Given the description of an element on the screen output the (x, y) to click on. 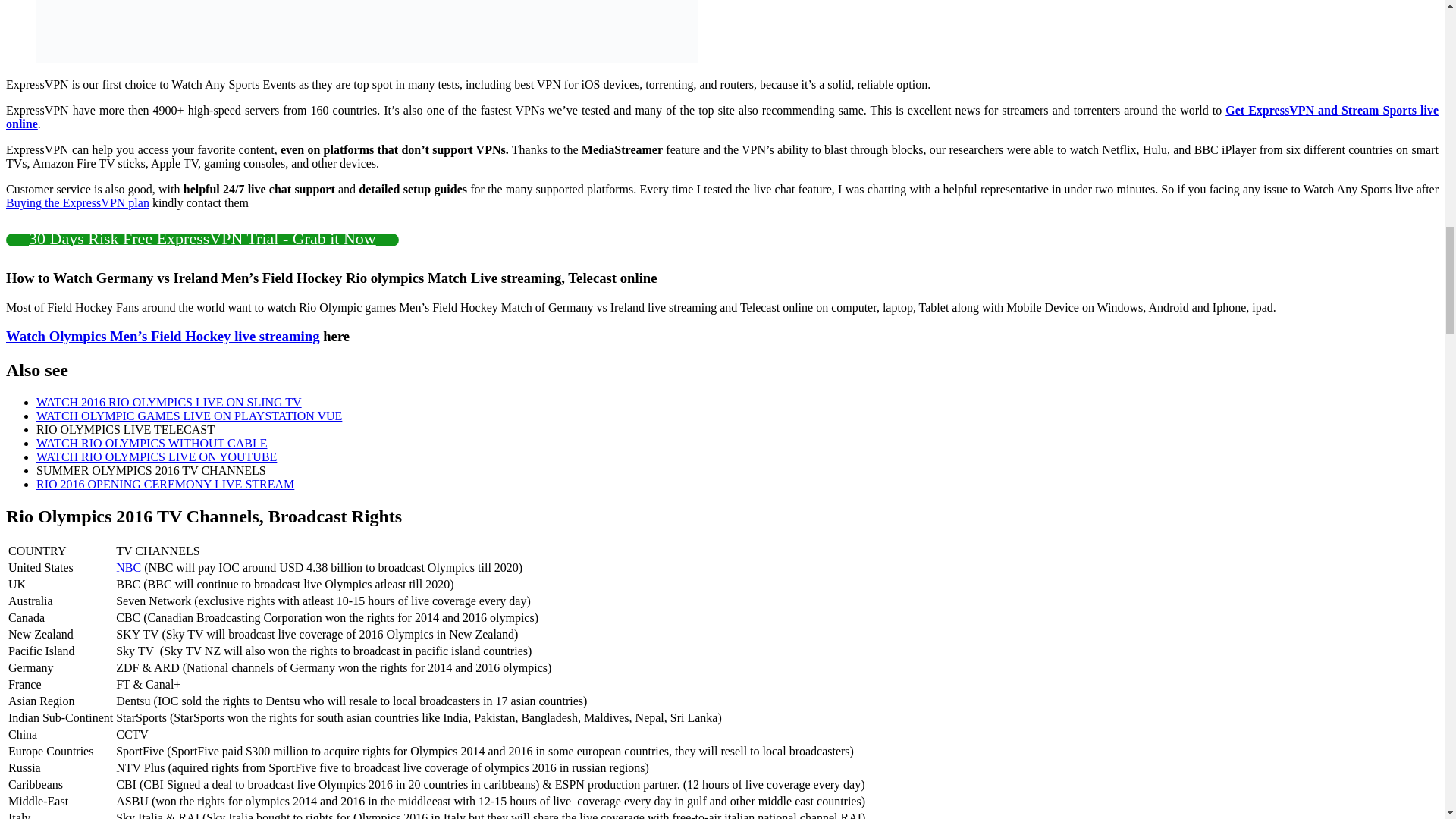
WATCH RIO OLYMPICS LIVE ON YOUTUBE (156, 456)
NBC (128, 567)
RIO 2016 OPENING CEREMONY LIVE STREAM (165, 483)
WATCH OLYMPIC GAMES LIVE ON PLAYSTATION VUE (189, 415)
WATCH RIO OLYMPICS WITHOUT CABLE (151, 442)
30 Days Risk Free ExpressVPN Trial - Grab it Now (201, 239)
ExpressVPN Get 3 Month Free with 12 Months plan banner (367, 31)
Buying the ExpressVPN plan (77, 202)
WATCH 2016 RIO OLYMPICS LIVE ON SLING TV (168, 401)
